Given the description of an element on the screen output the (x, y) to click on. 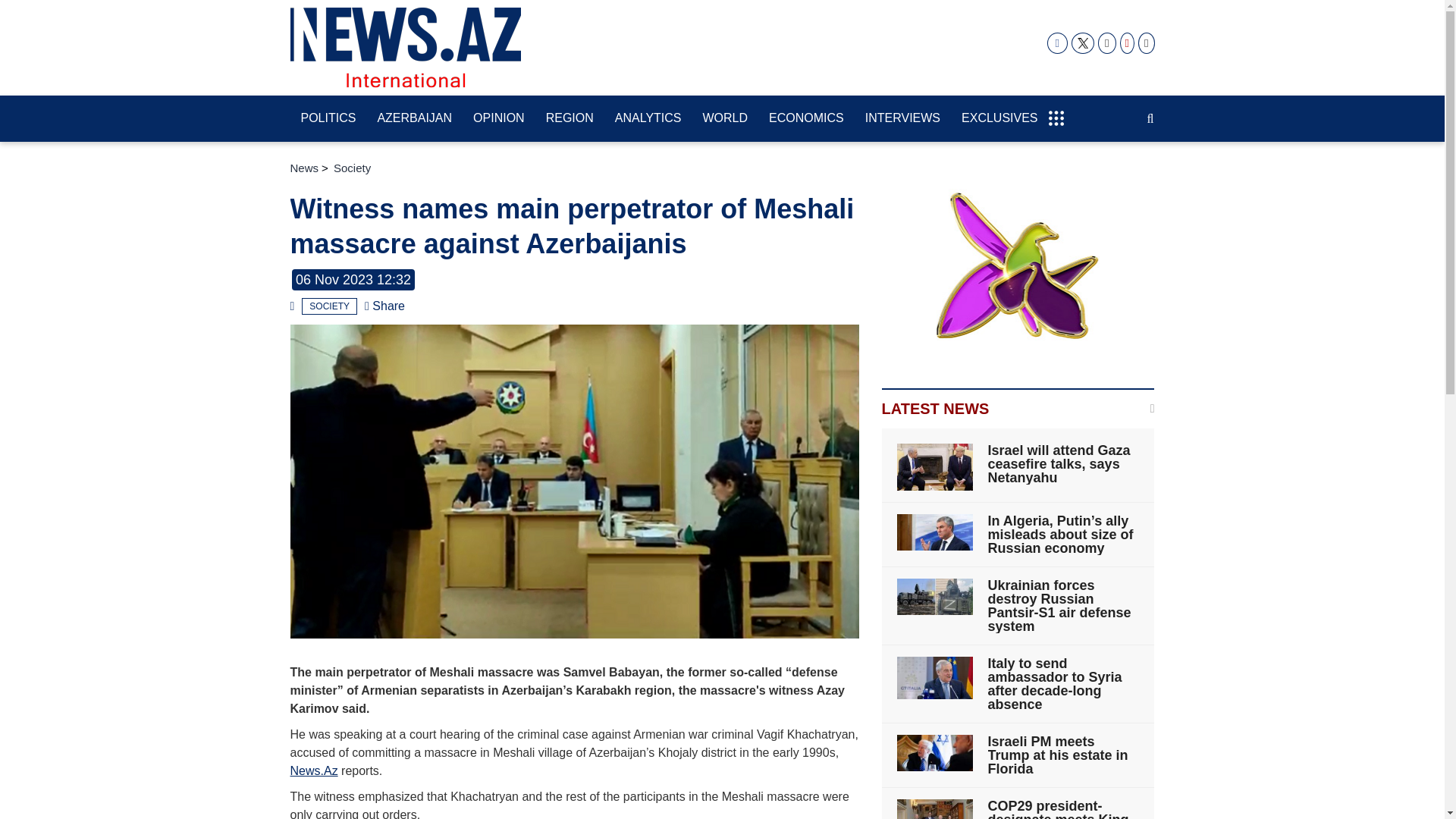
WORLD (725, 119)
ID: 190291 (291, 306)
REGION (569, 119)
AZERBAIJAN (414, 119)
POLITICS (327, 119)
SOCIETY (328, 306)
06 Nov 2023 12:32 (352, 280)
News (303, 167)
ANALYTICS (648, 119)
telegram (1146, 43)
Menu (1056, 110)
News.Az (313, 770)
instagram (1106, 43)
INTERVIEWS (902, 119)
